Given the description of an element on the screen output the (x, y) to click on. 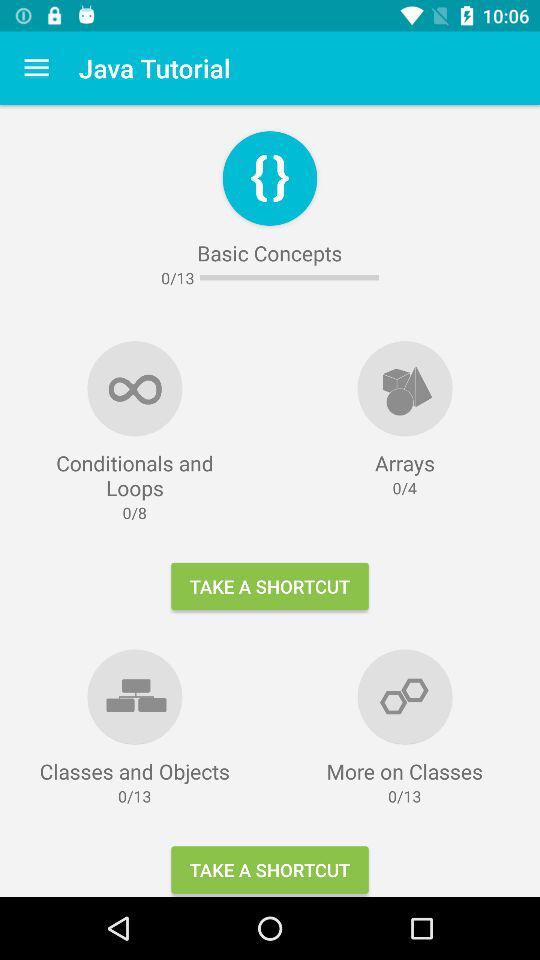
choose the icon above the conditionals and loops (36, 68)
